Given the description of an element on the screen output the (x, y) to click on. 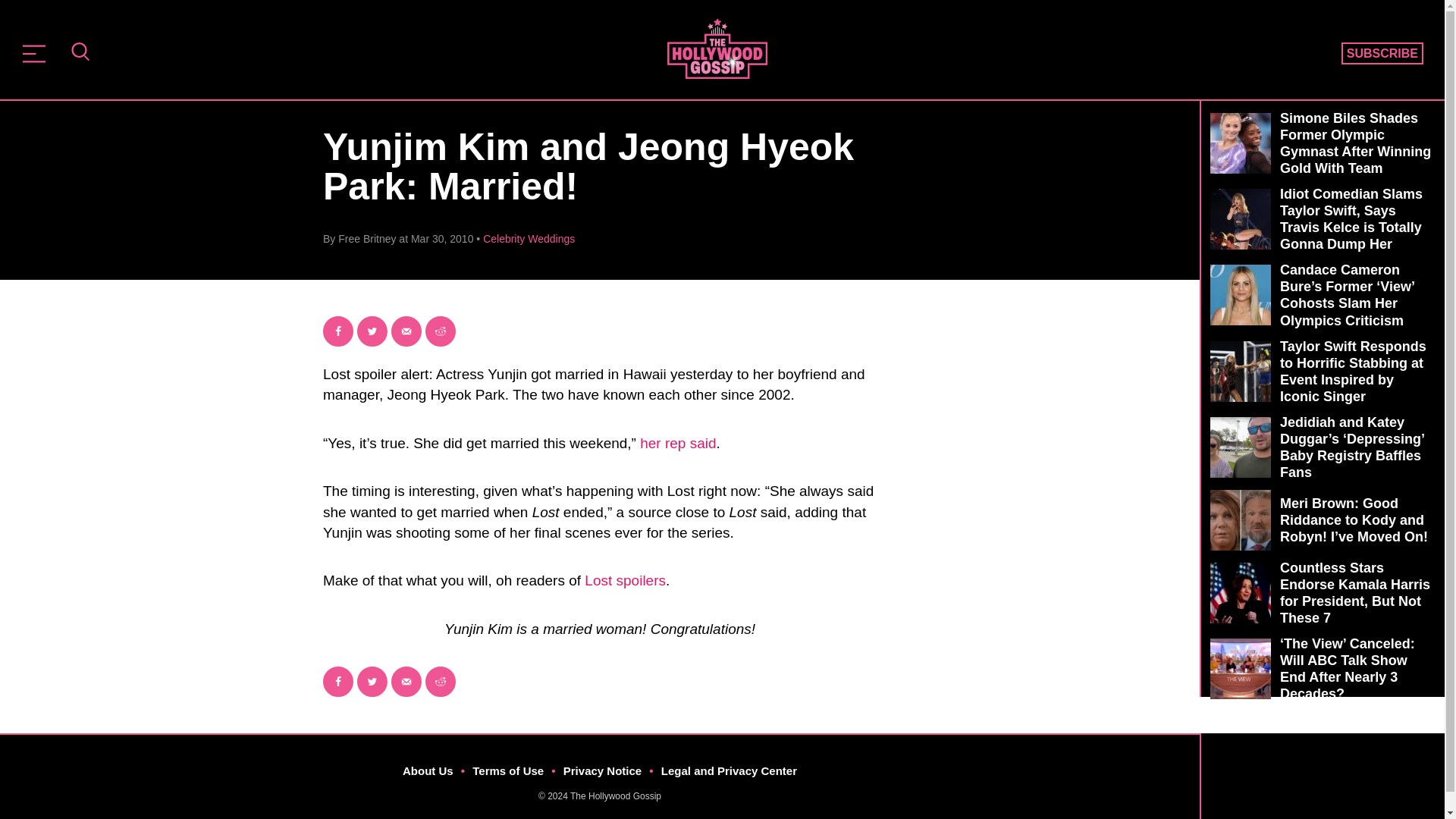
Share on Twitter (371, 681)
Share on Reddit (440, 331)
Free Britney (366, 238)
her rep said (678, 442)
SEARCH (79, 53)
Celebrity Weddings (529, 238)
Share on Twitter (371, 331)
SUBSCRIBE (1381, 53)
The Hollywood Gossip (716, 48)
Share on Facebook (338, 681)
Lost spoilers (625, 580)
Share on Reddit (440, 681)
